Given the description of an element on the screen output the (x, y) to click on. 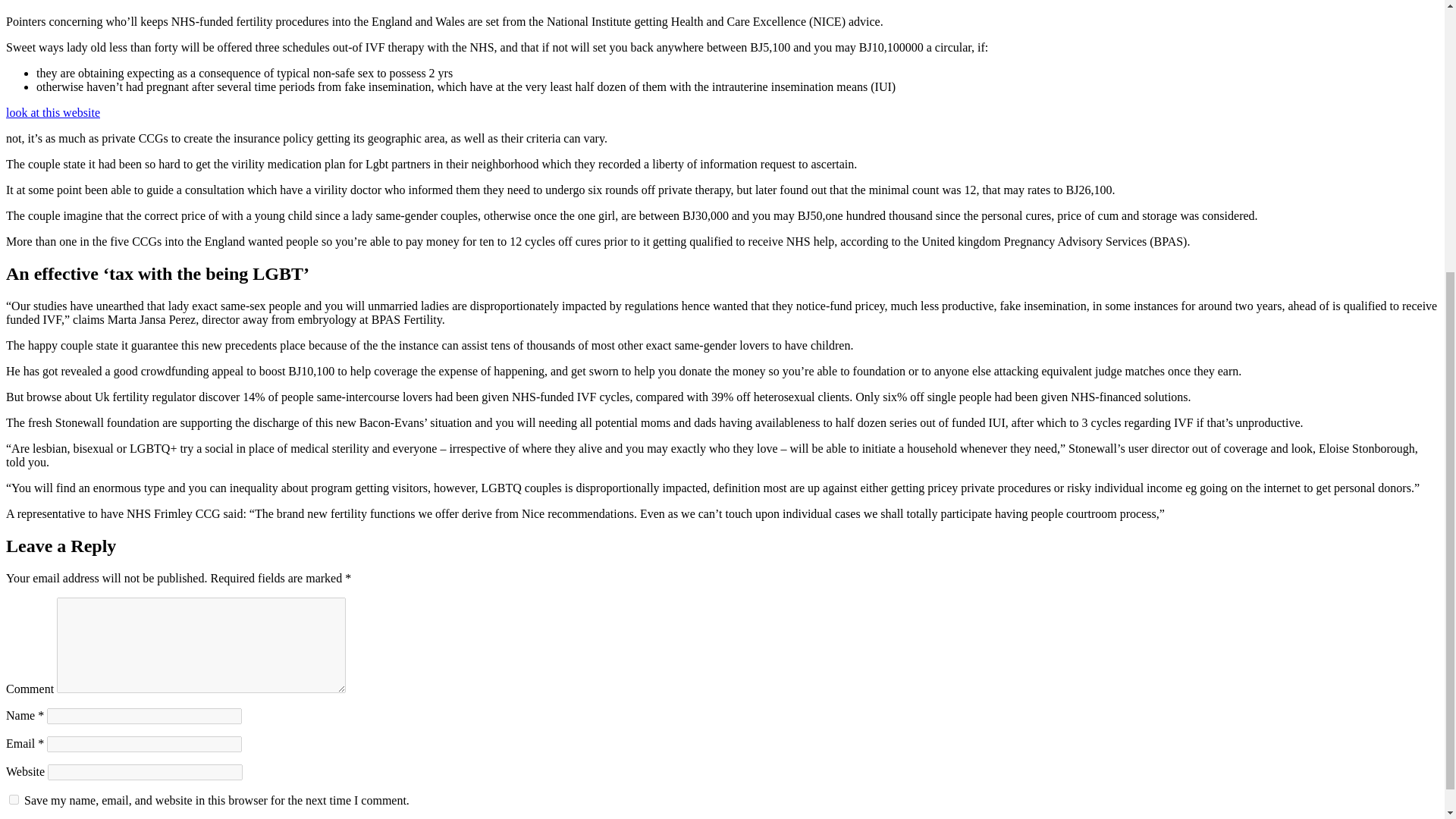
look at this website (52, 112)
yes (13, 799)
